Given the description of an element on the screen output the (x, y) to click on. 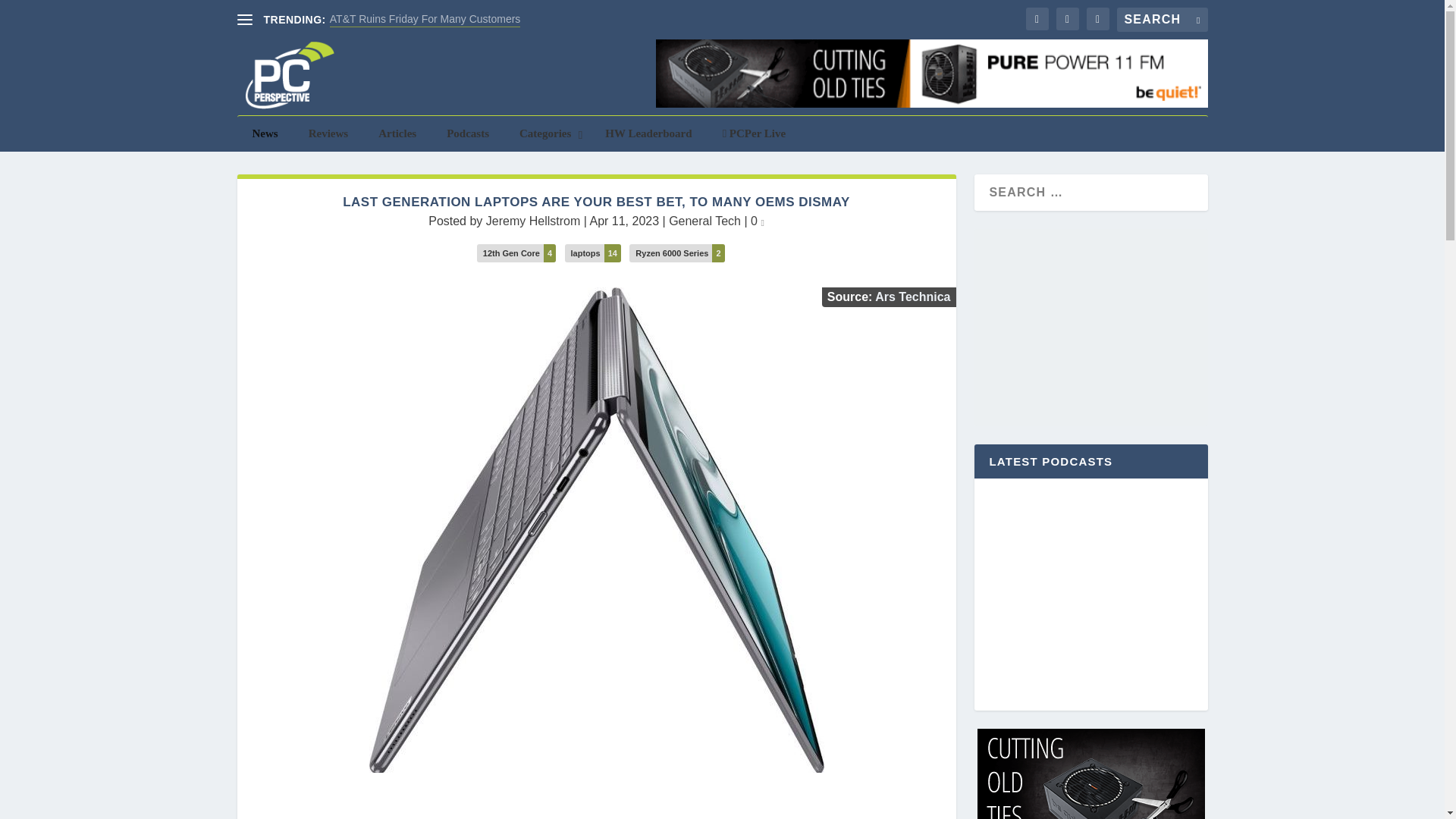
Reviews (329, 133)
PCPer Live (754, 133)
Search for: (1161, 19)
Posts by Jeremy Hellstrom (532, 220)
HW Leaderboard (647, 133)
Podcasts (466, 133)
Categories (546, 133)
Articles (396, 133)
News (263, 133)
